Given the description of an element on the screen output the (x, y) to click on. 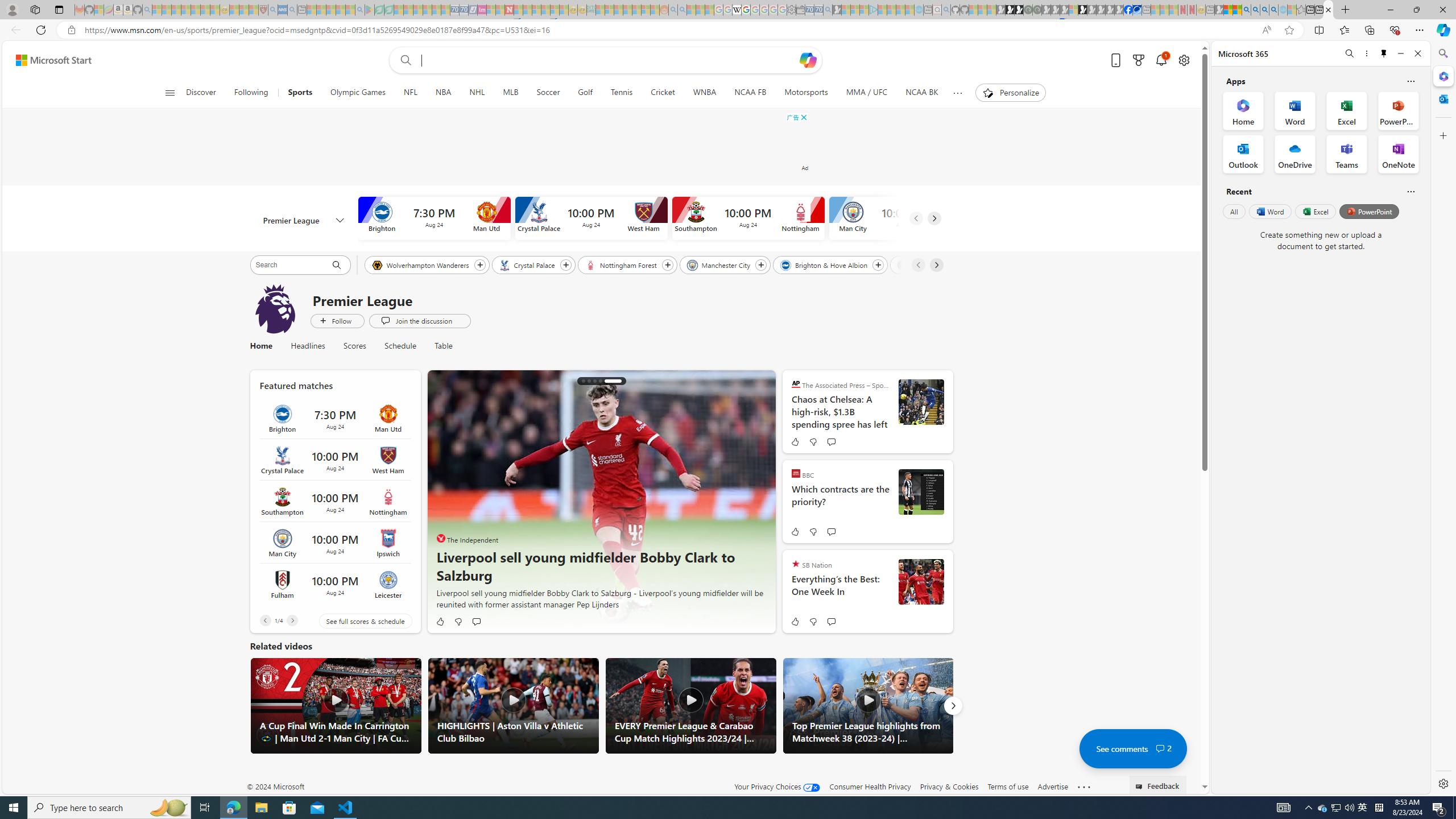
Bing AI - Search (1246, 9)
See comments 2 (1132, 748)
Manchester City (718, 264)
Follow Manchester City (760, 265)
Nottingham Forest (621, 264)
MLB (510, 92)
